Given the description of an element on the screen output the (x, y) to click on. 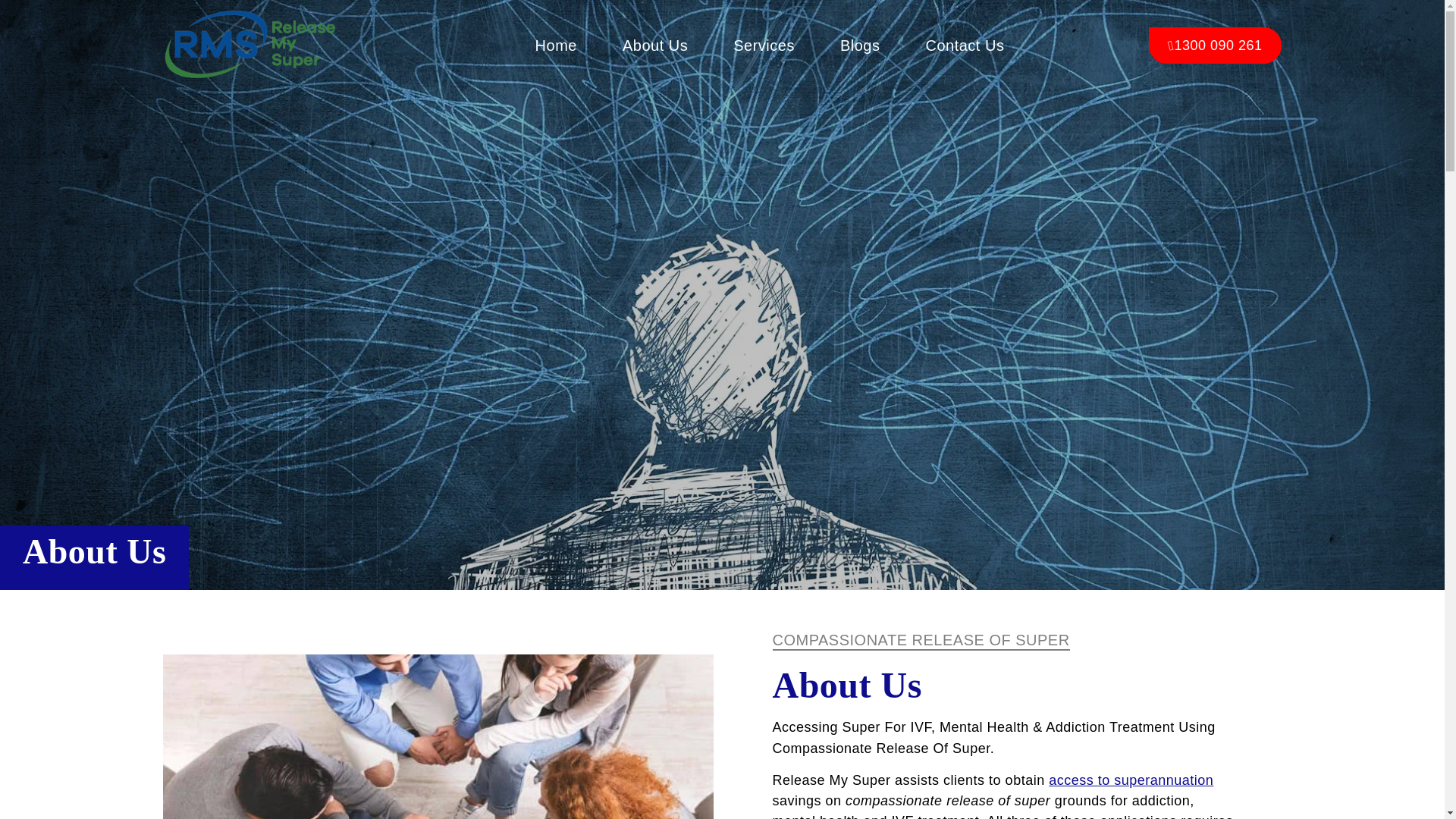
About Us (655, 44)
1300 090 261 (1214, 45)
access to superannuation (1130, 780)
Home (555, 44)
Blogs (860, 44)
Contact Us (964, 44)
Services (763, 44)
